Given the description of an element on the screen output the (x, y) to click on. 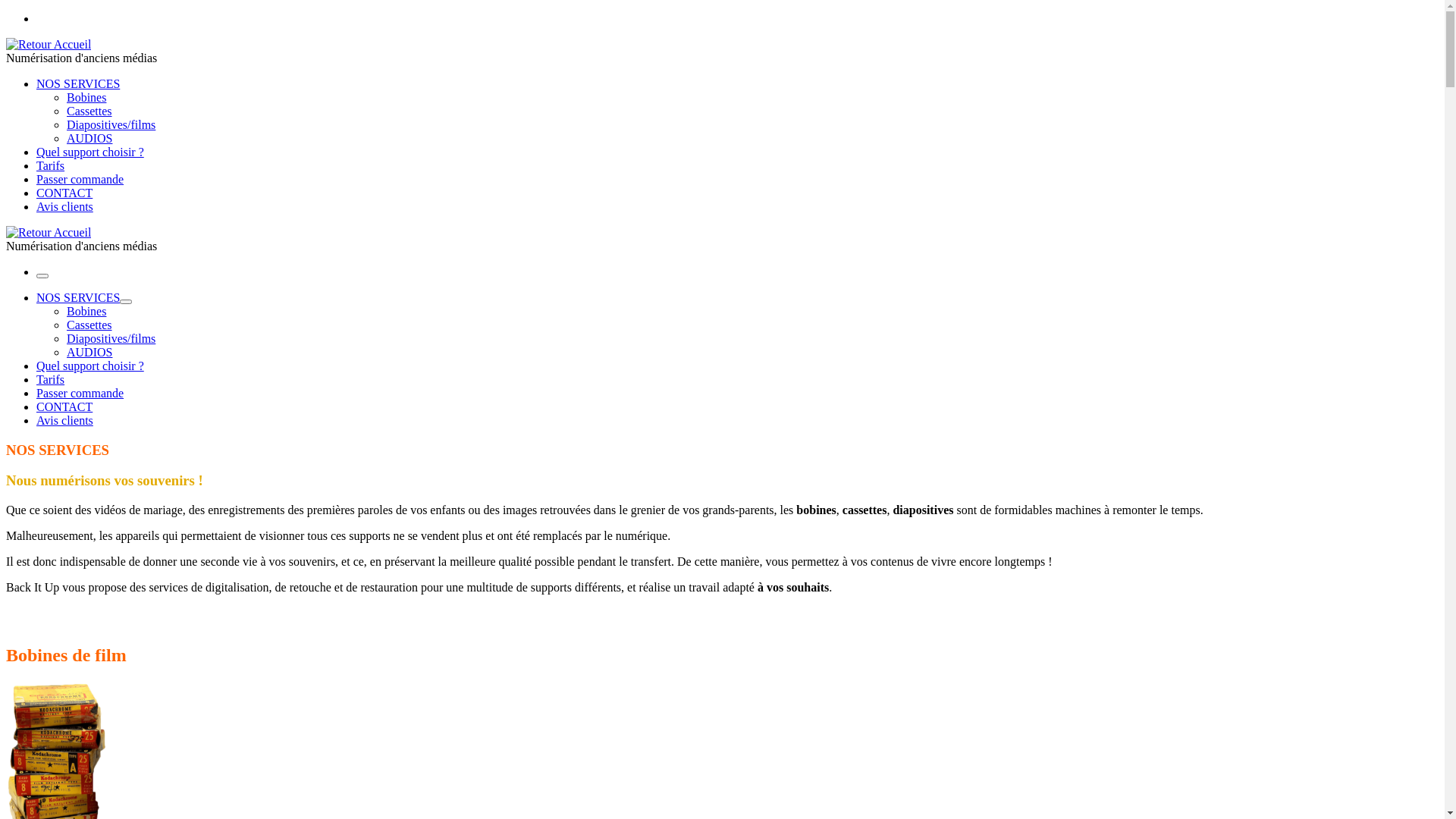
Bobines Element type: text (86, 97)
Diapositives/films Element type: text (110, 124)
NOS SERVICES Element type: text (77, 83)
Tarifs Element type: text (50, 379)
NOS SERVICES Element type: text (77, 297)
Avis clients Element type: text (64, 420)
Cassettes Element type: text (89, 324)
Cassettes Element type: text (89, 110)
Bobines Element type: text (86, 310)
CONTACT Element type: text (64, 406)
Passer commande Element type: text (79, 392)
AUDIOS Element type: text (89, 137)
Quel support choisir ? Element type: text (90, 151)
Avis clients Element type: text (64, 206)
Passer commande Element type: text (79, 178)
Tarifs Element type: text (50, 165)
AUDIOS Element type: text (89, 351)
Quel support choisir ? Element type: text (90, 365)
Menu Element type: text (42, 275)
Passer au contenu Element type: text (5, 11)
Diapositives/films Element type: text (110, 338)
CONTACT Element type: text (64, 192)
